Given the description of an element on the screen output the (x, y) to click on. 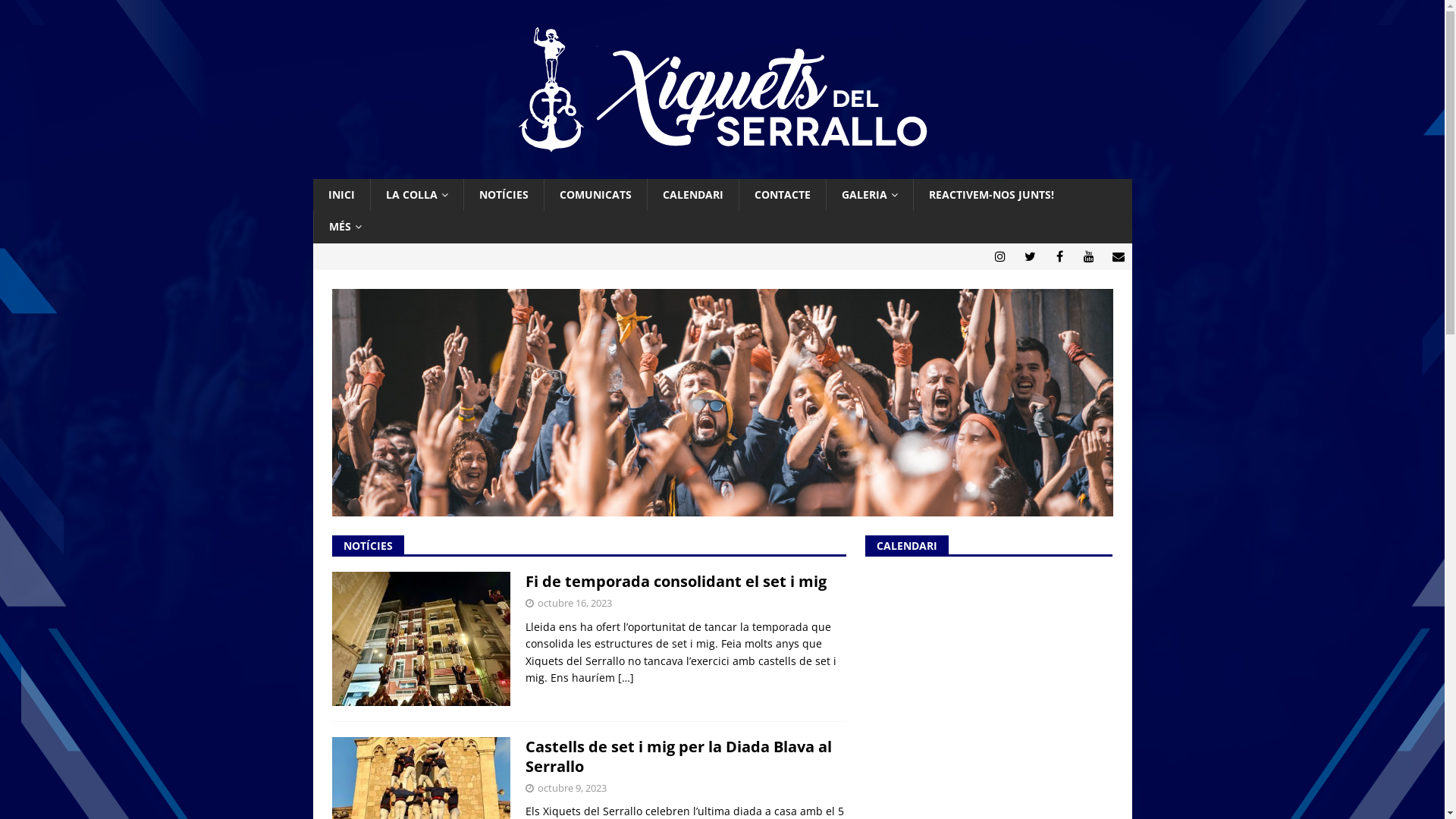
LA COLLA Element type: text (416, 194)
CALENDARI Element type: text (691, 194)
Fi de temporada consolidant el set i mig Element type: text (674, 581)
CONTACTE Element type: text (781, 194)
Castells de set i mig per la Diada Blava al Serrallo Element type: text (677, 756)
INICI Element type: text (340, 194)
Colla Xiquets del Serrallo Element type: hover (721, 170)
octubre 16, 2023 Element type: text (573, 602)
octubre 9, 2023 Element type: text (570, 787)
REACTIVEM-NOS JUNTS! Element type: text (991, 194)
GALERIA Element type: text (868, 194)
COMUNICATS Element type: text (594, 194)
